Given the description of an element on the screen output the (x, y) to click on. 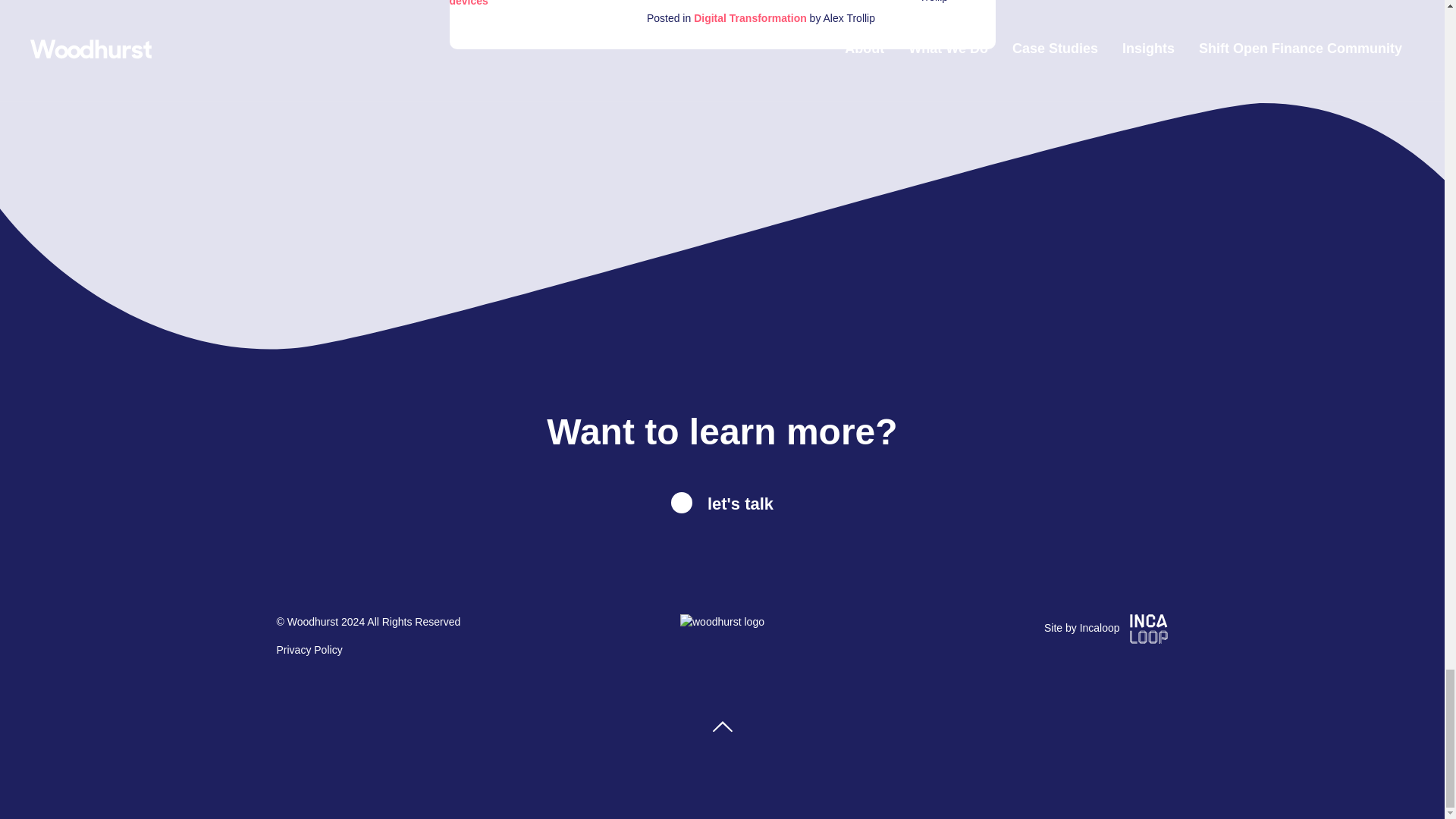
Privacy Policy (309, 649)
Digital Transformation (750, 18)
let's talk (722, 504)
